Given the description of an element on the screen output the (x, y) to click on. 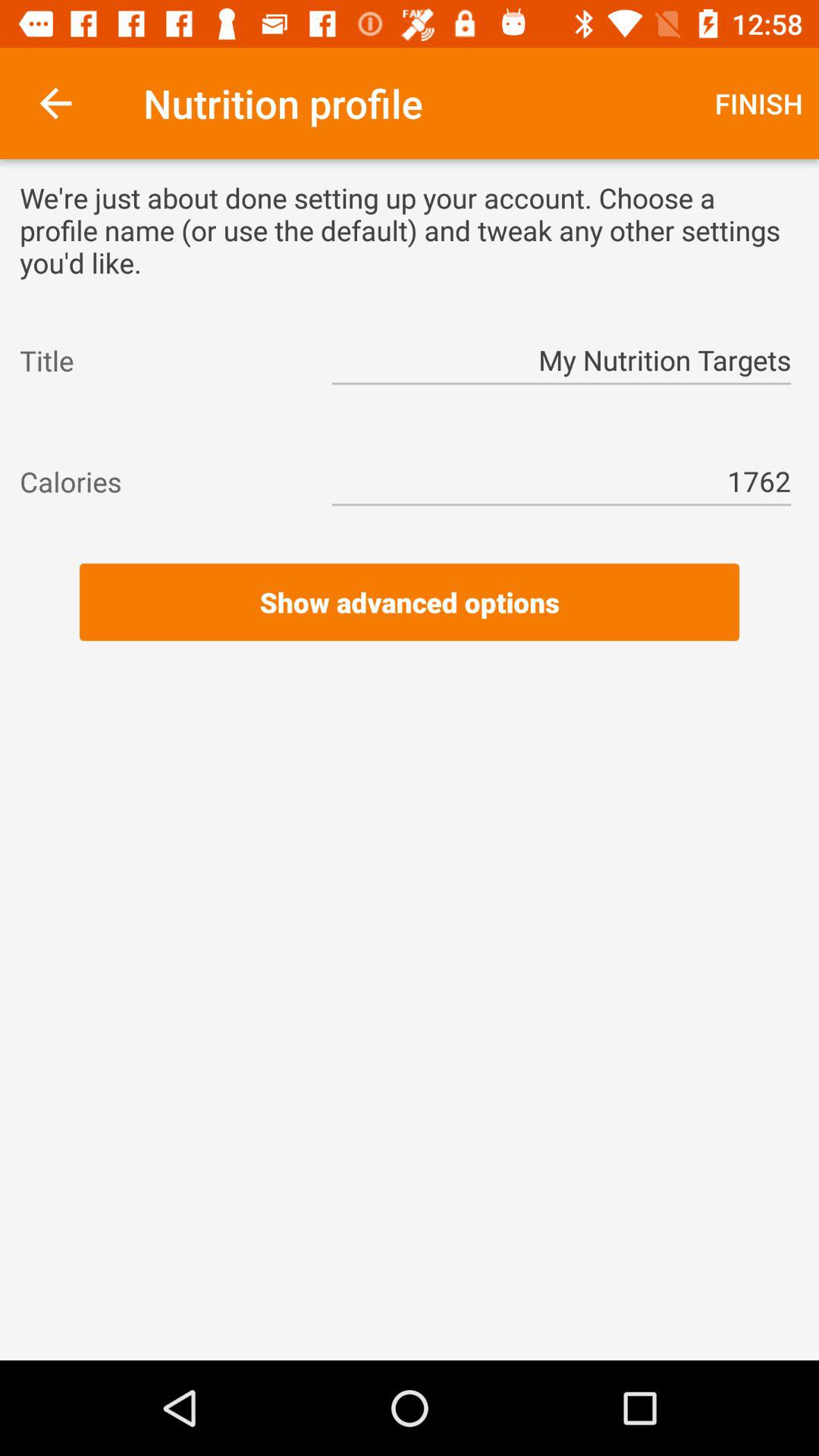
select item to the right of the calories (561, 481)
